Given the description of an element on the screen output the (x, y) to click on. 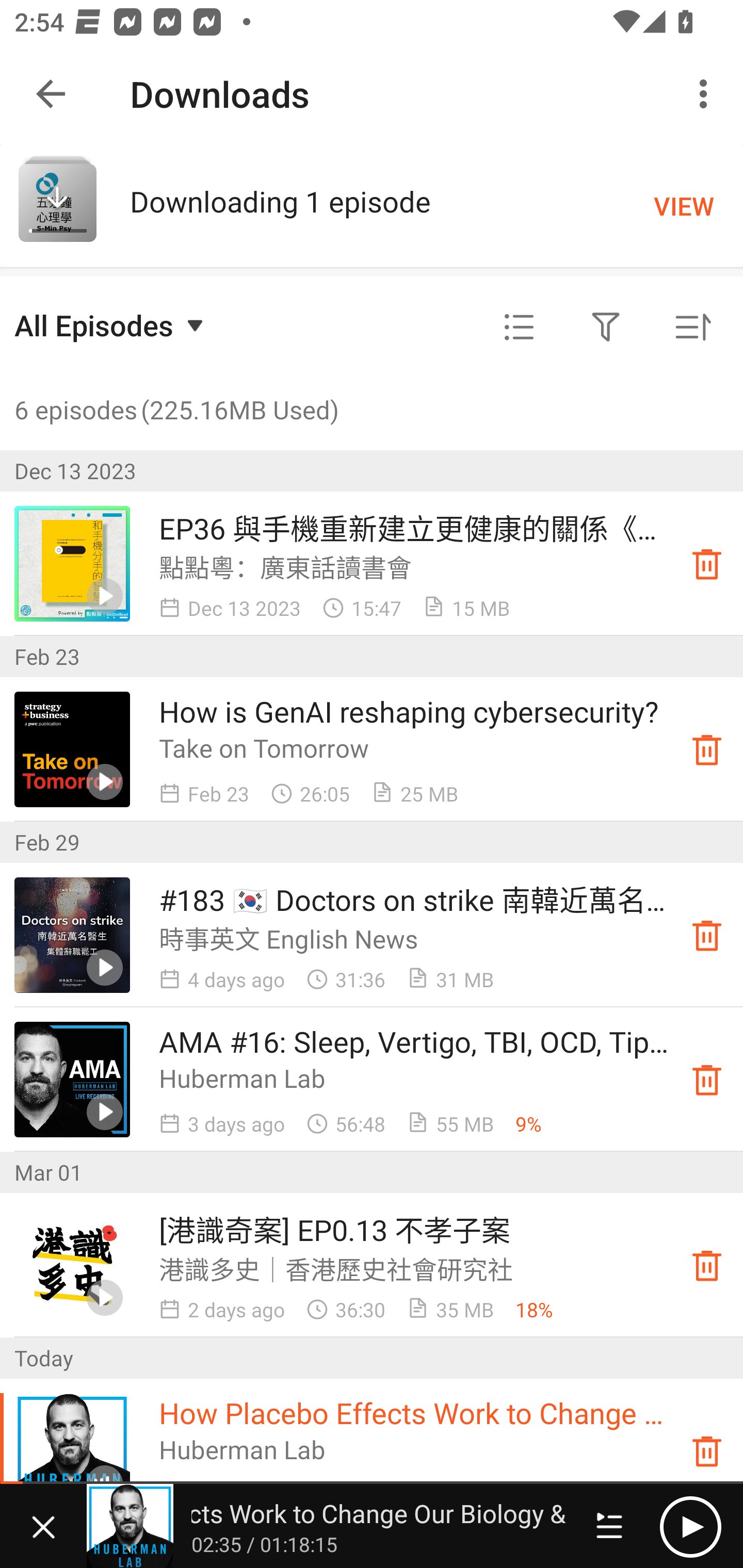
Navigate up (50, 93)
More options (706, 93)
5.0 Downloading 1 episode VIEW (371, 205)
All Episodes (111, 325)
 (518, 327)
 (605, 327)
 Sorted by oldest first (692, 327)
Downloaded (706, 563)
Downloaded (706, 749)
Downloaded (706, 935)
Downloaded (706, 1079)
Downloaded (706, 1265)
Downloaded (706, 1451)
Play (690, 1526)
